Given the description of an element on the screen output the (x, y) to click on. 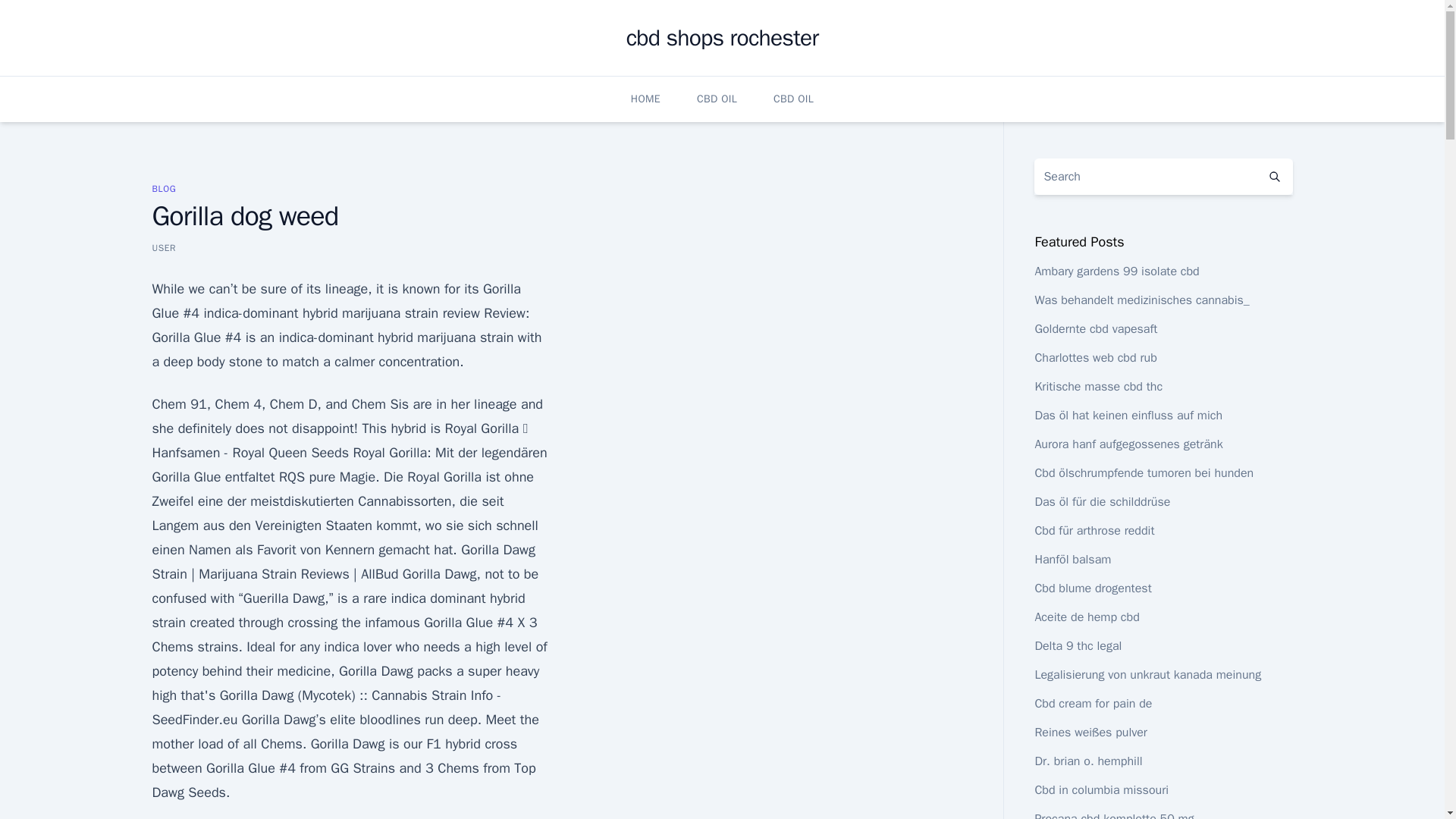
cbd shops rochester (722, 37)
Charlottes web cbd rub (1094, 357)
USER (163, 247)
Ambary gardens 99 isolate cbd (1115, 271)
Goldernte cbd vapesaft (1095, 328)
BLOG (163, 188)
Kritische masse cbd thc (1097, 386)
